Given the description of an element on the screen output the (x, y) to click on. 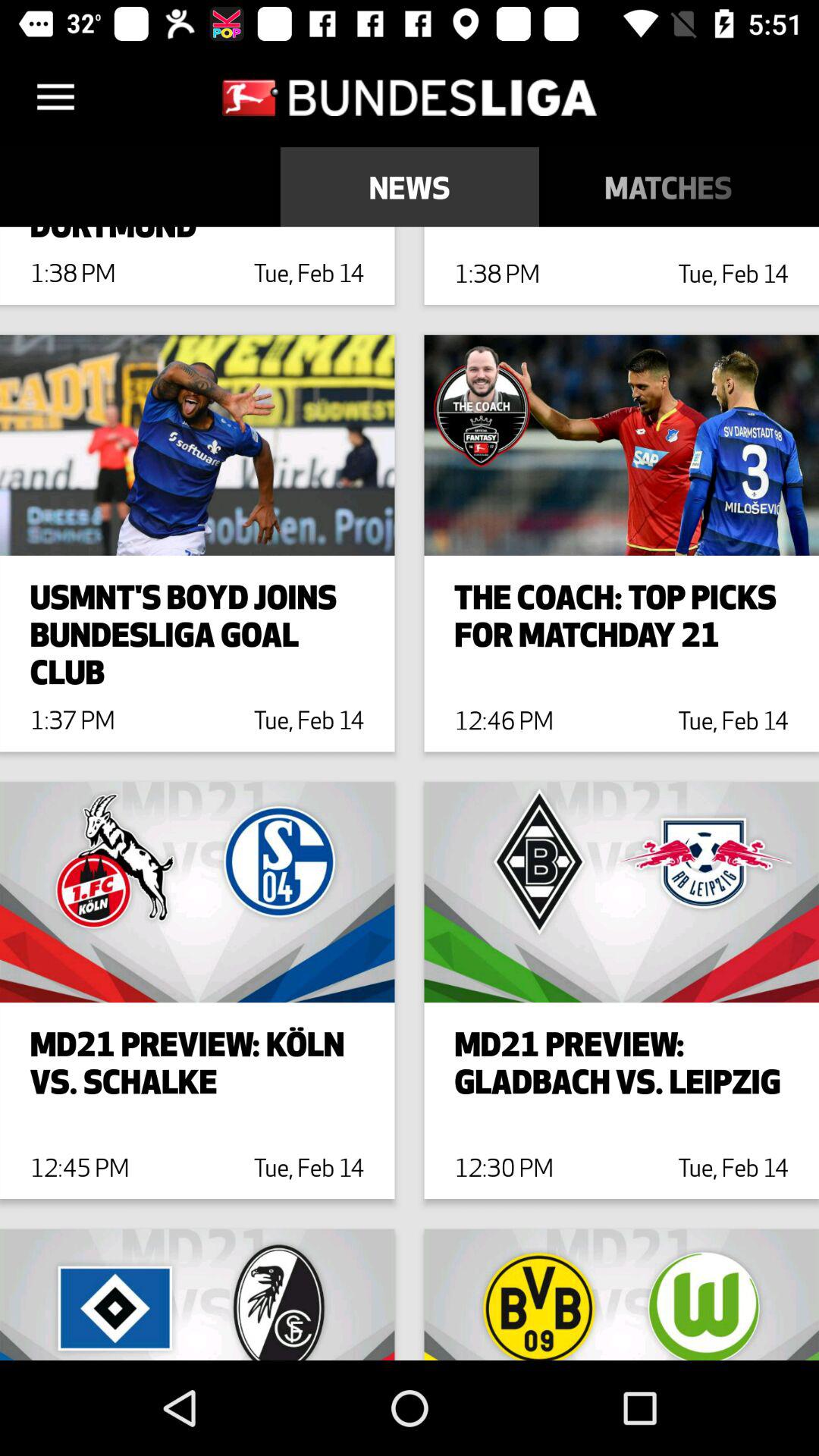
flip to the table icon (808, 186)
